Given the description of an element on the screen output the (x, y) to click on. 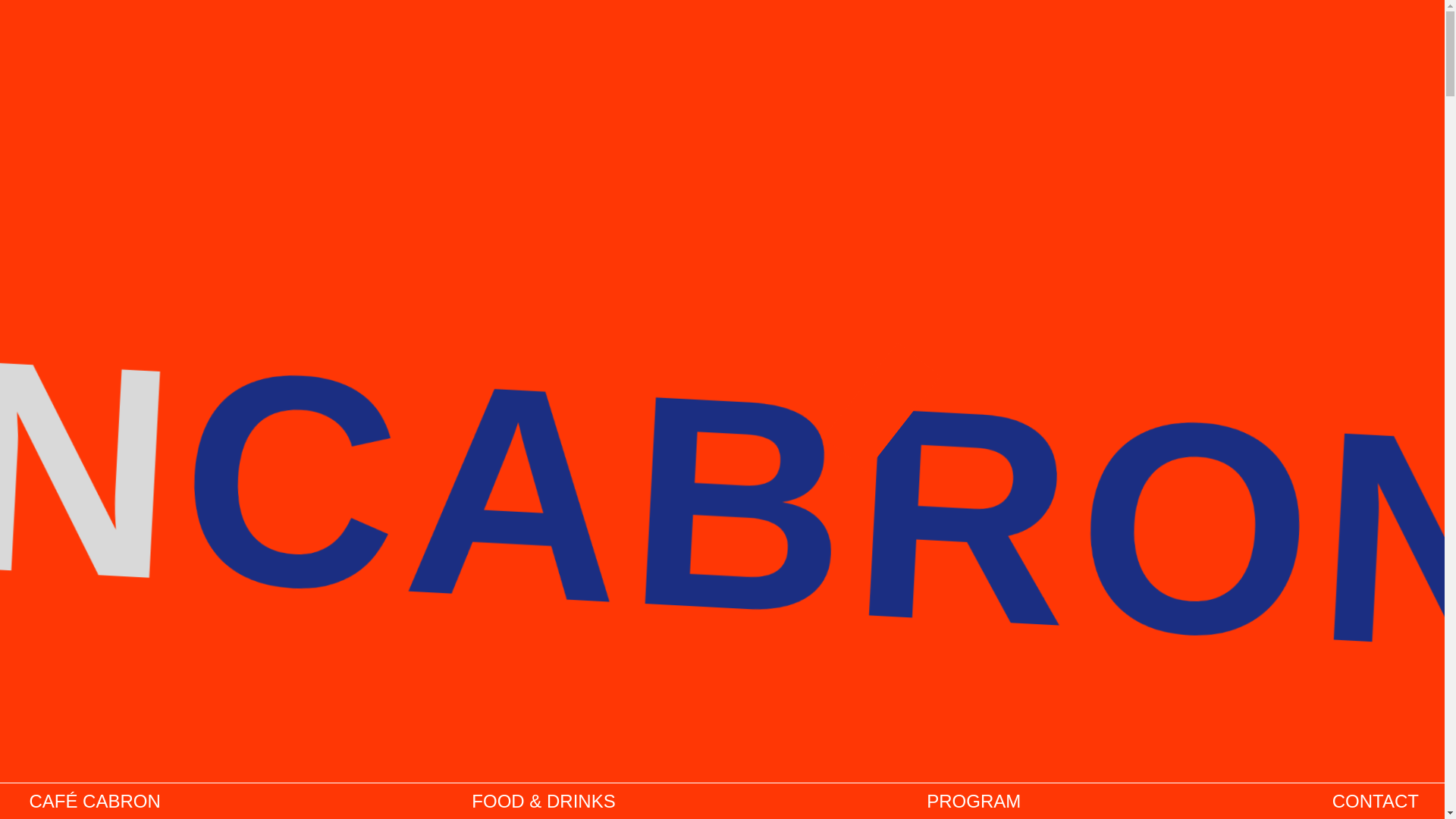
PROGRAM Element type: text (975, 801)
CONTACT Element type: text (1377, 801)
FOOD & DRINKS Element type: text (545, 801)
